Given the description of an element on the screen output the (x, y) to click on. 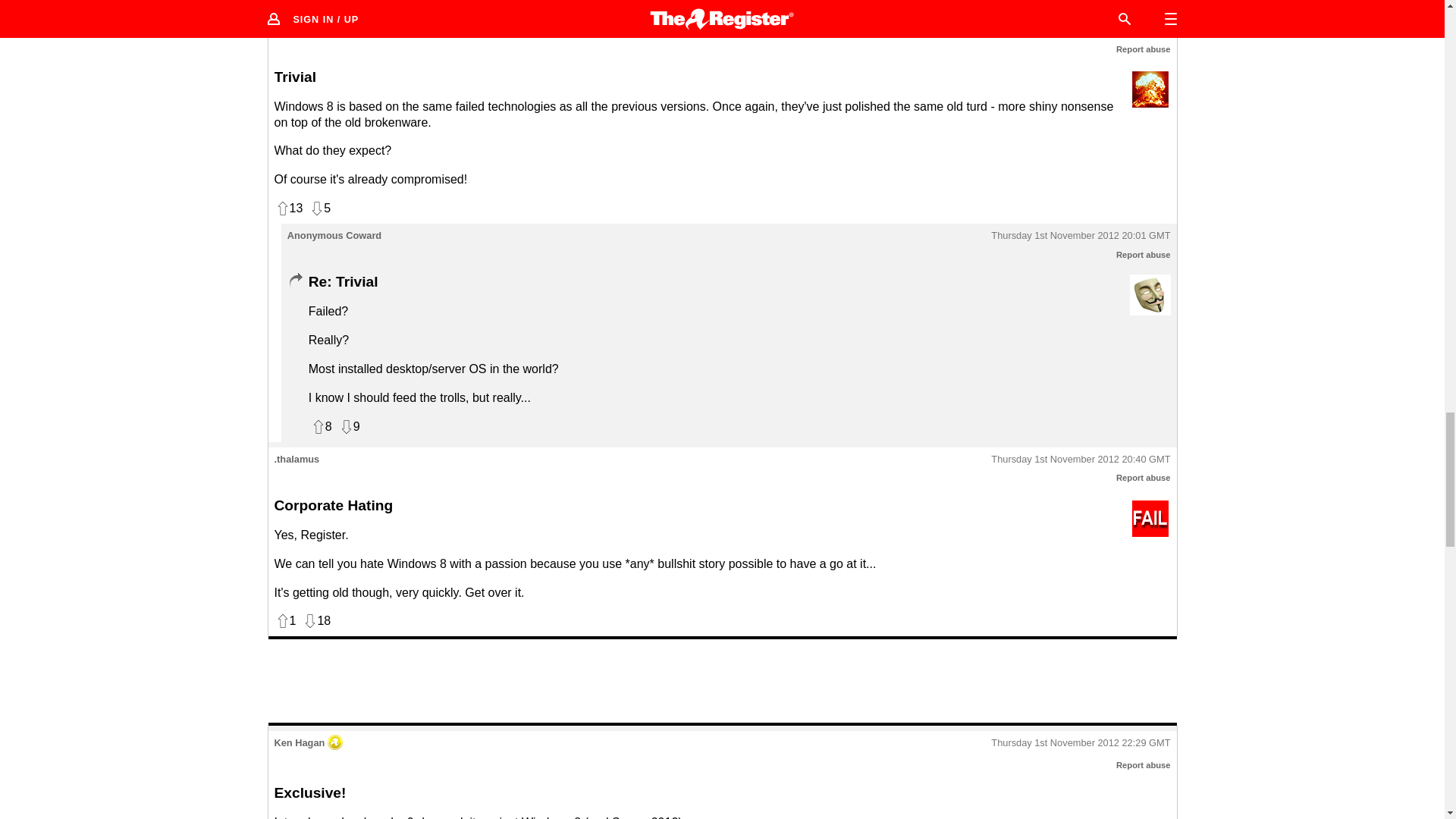
Report abuse (1143, 49)
Report abuse (1143, 254)
Report abuse (1143, 764)
Report abuse (1143, 477)
